Given the description of an element on the screen output the (x, y) to click on. 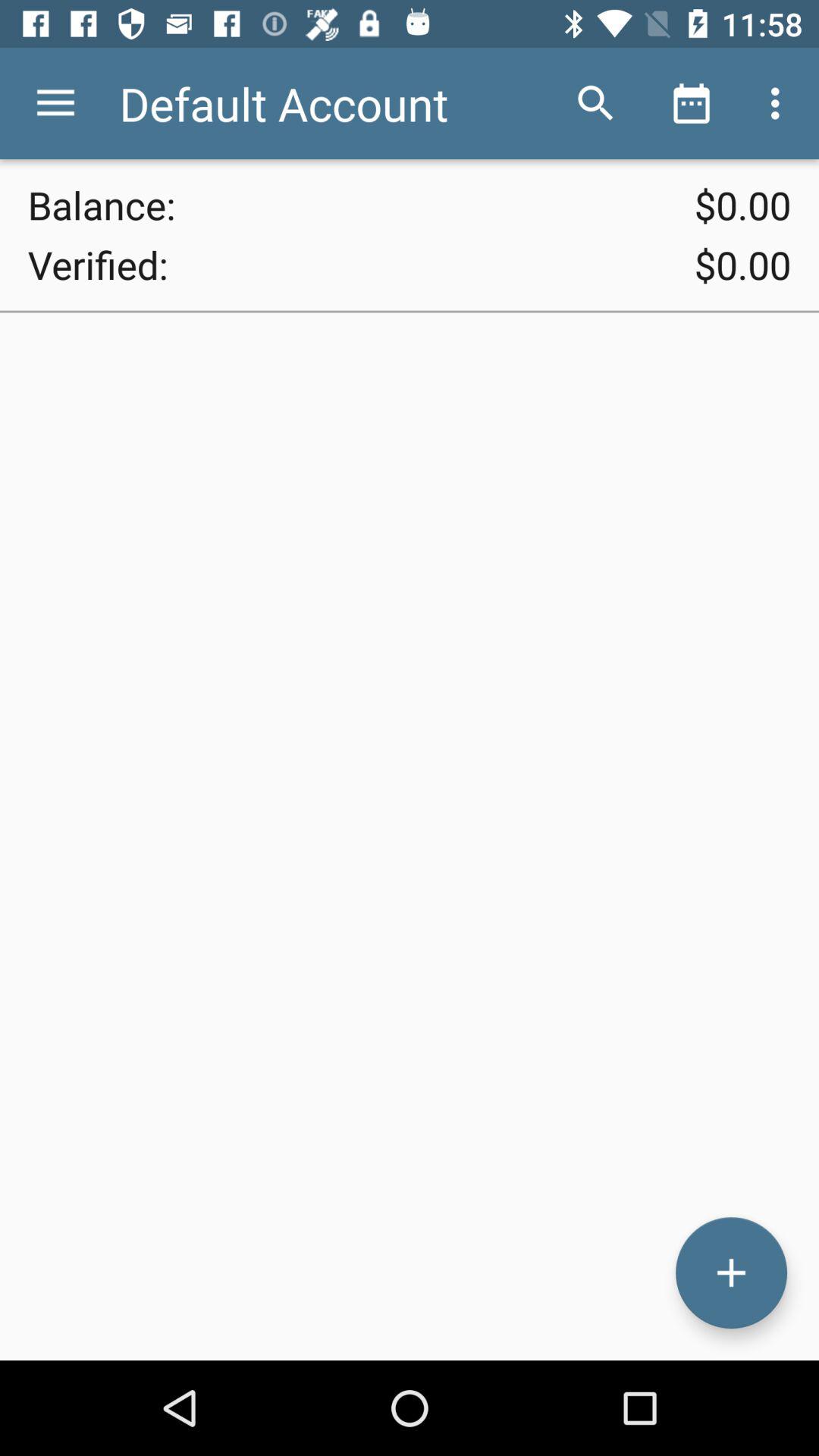
turn off the icon next to the default account icon (55, 103)
